Given the description of an element on the screen output the (x, y) to click on. 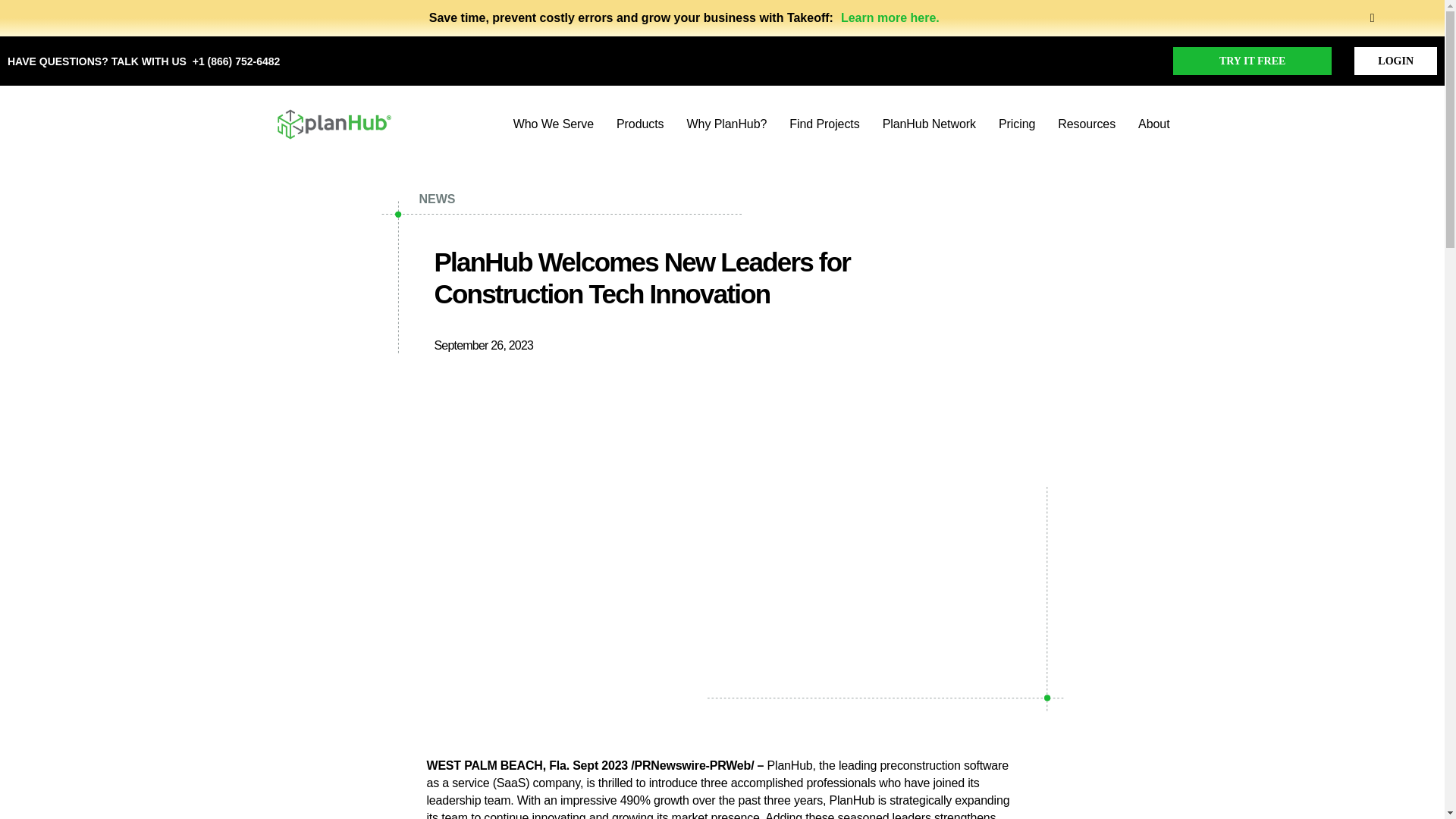
Who We Serve (553, 124)
About (1153, 124)
Resources (1086, 124)
Pricing (1016, 124)
Learn more here. (890, 17)
Products (639, 124)
PlanHub Network (928, 124)
TRY IT FREE (1252, 60)
Why PlanHub? (727, 124)
LOGIN (1395, 60)
